Given the description of an element on the screen output the (x, y) to click on. 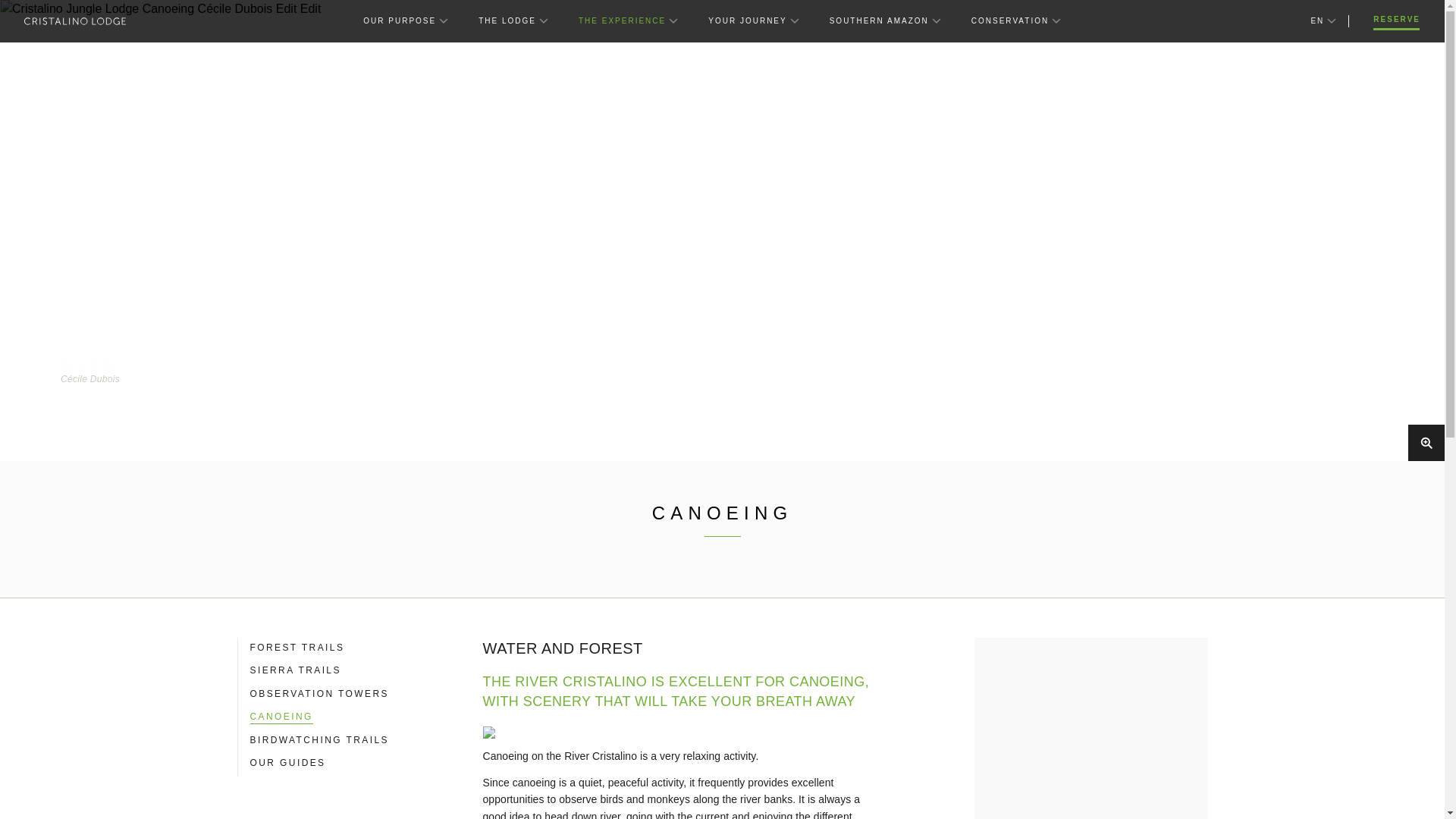
CANOEING (281, 716)
toggle submenu for THE LODGE (541, 20)
FOREST TRAILS (297, 648)
BIRDWATCHING TRAILS (319, 740)
OUR PURPOSE (398, 21)
Reserve (1397, 21)
SIERRA TRAILS (295, 671)
THE LODGE (507, 21)
OBSERVATION TOWERS (319, 694)
toggle submenu for THE EXPERIENCE (671, 20)
toggle submenu for OUR PURPOSE (441, 20)
THE EXPERIENCE (621, 21)
toggle submenu for SOUTHERN AMAZON (934, 20)
toggle submenu for YOUR JOURNEY (793, 20)
